Given the description of an element on the screen output the (x, y) to click on. 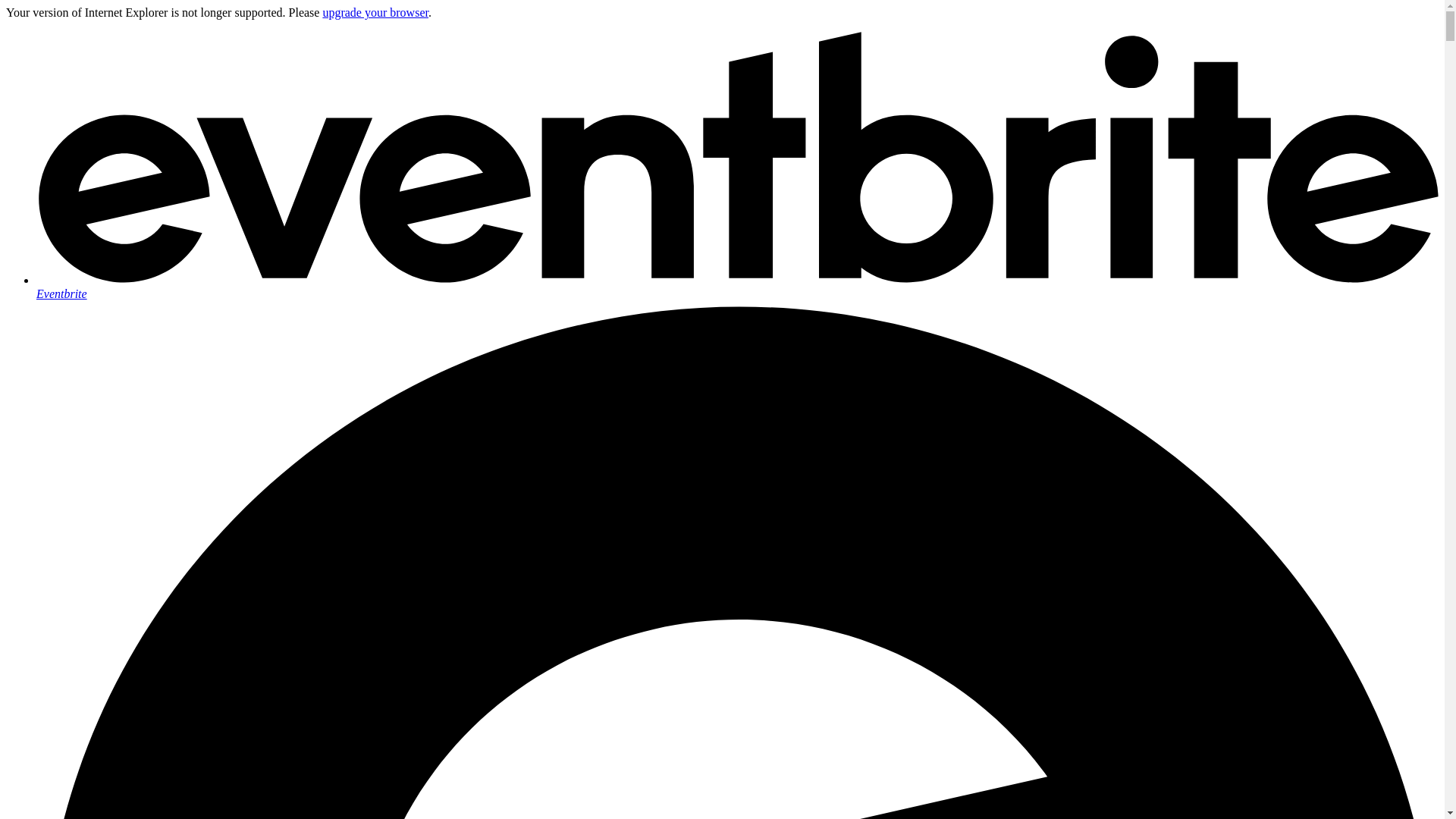
Eventbrite Element type: text (737, 286)
upgrade your browser Element type: text (375, 12)
